Given the description of an element on the screen output the (x, y) to click on. 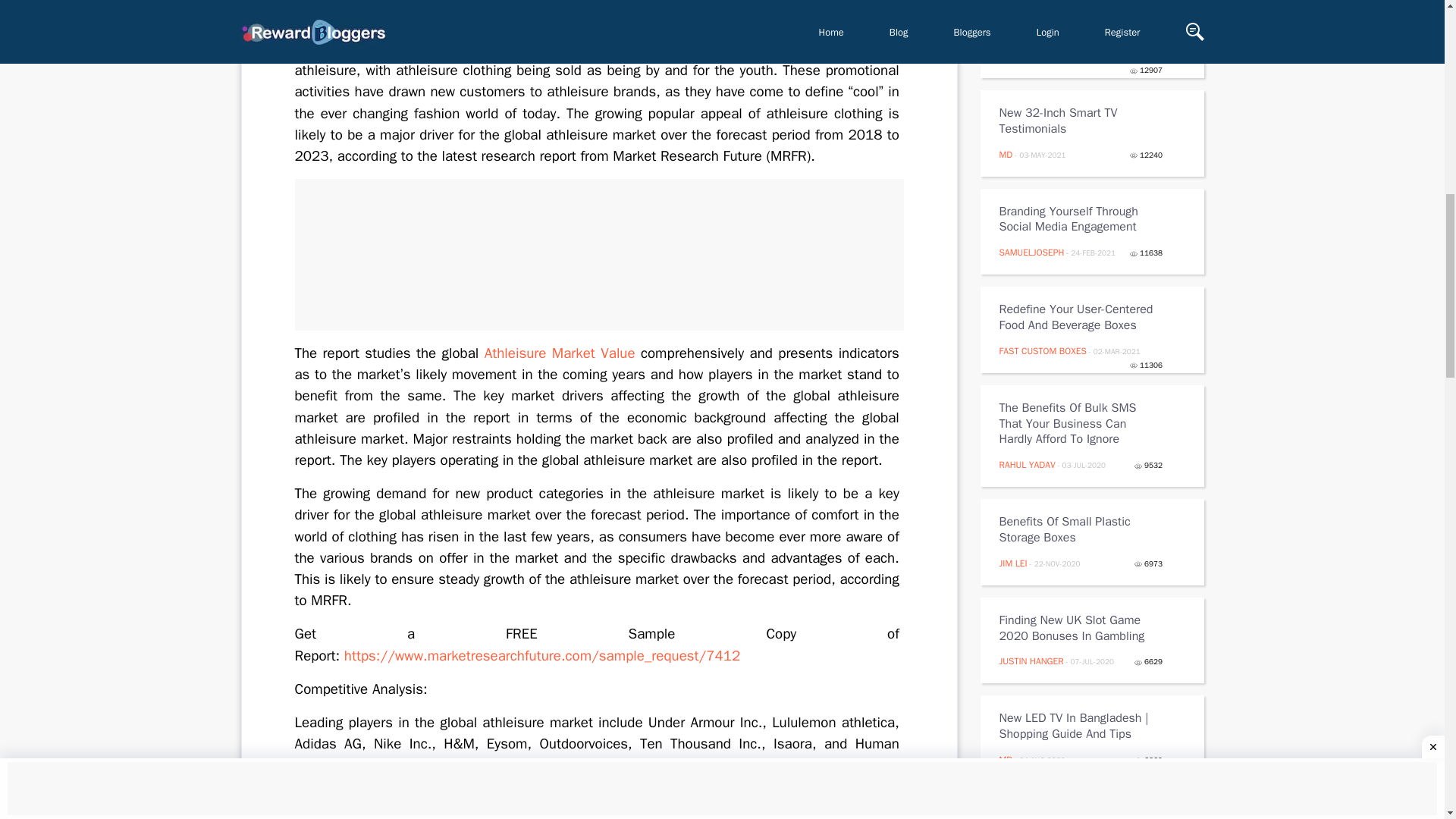
New 32-Inch Smart TV Testimonials (1080, 121)
FAST CUSTOM BOXES (1042, 350)
MD (1005, 759)
Finding New UK Slot Game 2020 Bonuses In Gambling (1080, 628)
MD (1005, 154)
JUSTIN HANGER (1031, 661)
Advertisement (598, 254)
JIM LEI (1012, 563)
SAMUELJOSEPH (1031, 252)
